Given the description of an element on the screen output the (x, y) to click on. 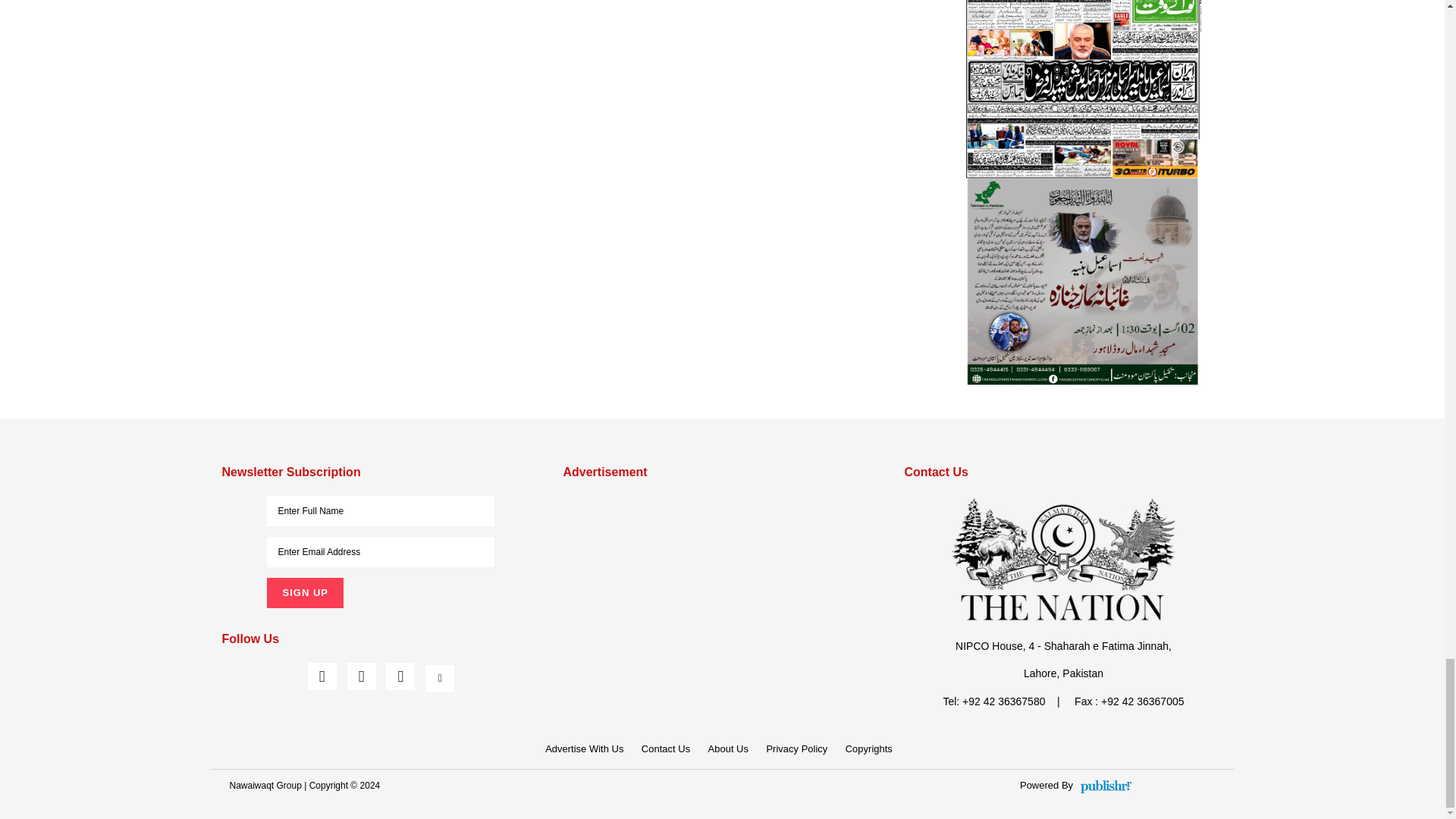
Sign up (304, 593)
